Given the description of an element on the screen output the (x, y) to click on. 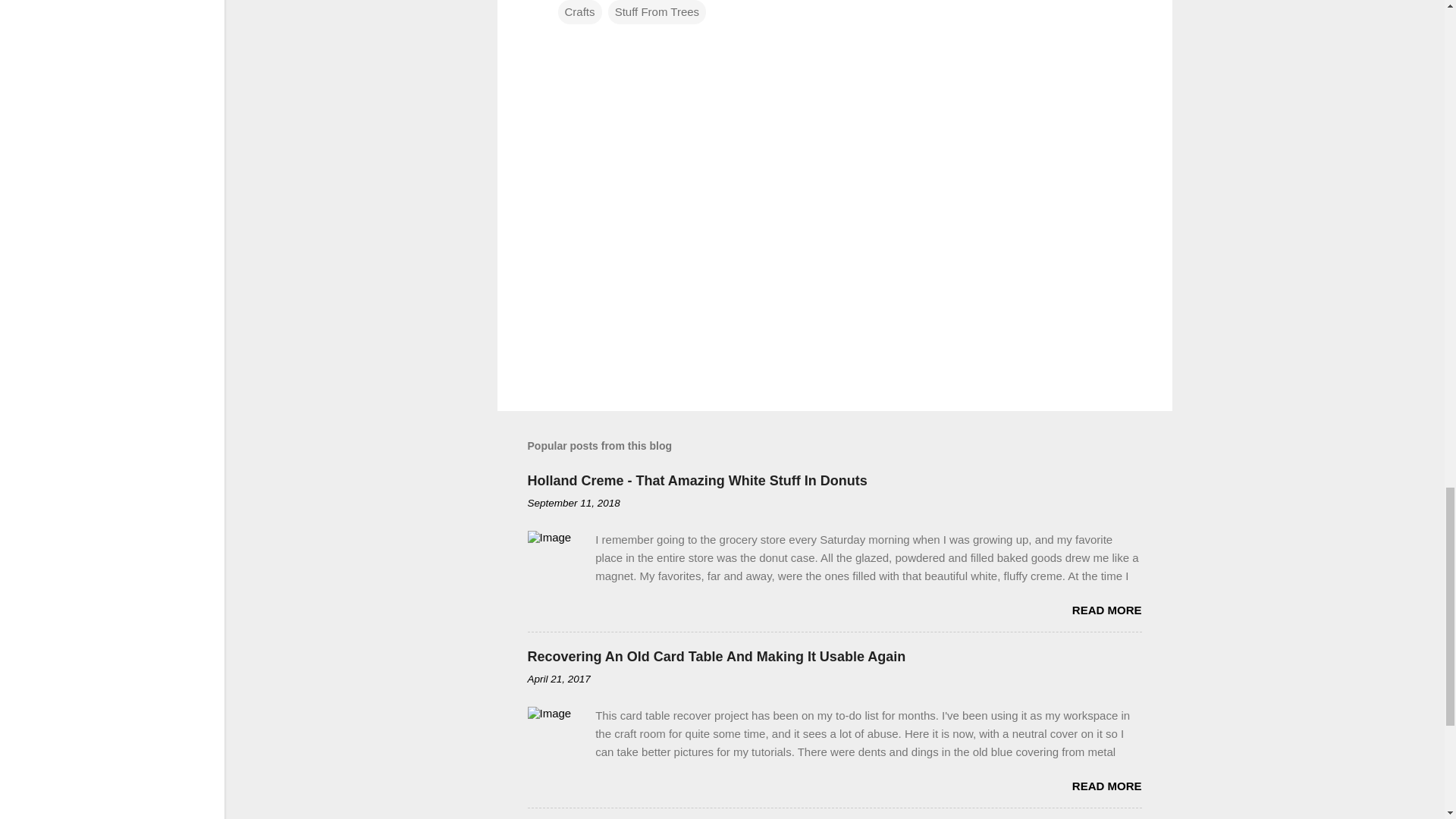
Stuff From Trees (657, 12)
September 11, 2018 (573, 502)
READ MORE (1106, 785)
April 21, 2017 (559, 678)
Crafts (579, 12)
Holland Creme - That Amazing White Stuff In Donuts (697, 480)
Recovering An Old Card Table And Making It Usable Again (716, 656)
permanent link (573, 502)
READ MORE (1106, 609)
